Given the description of an element on the screen output the (x, y) to click on. 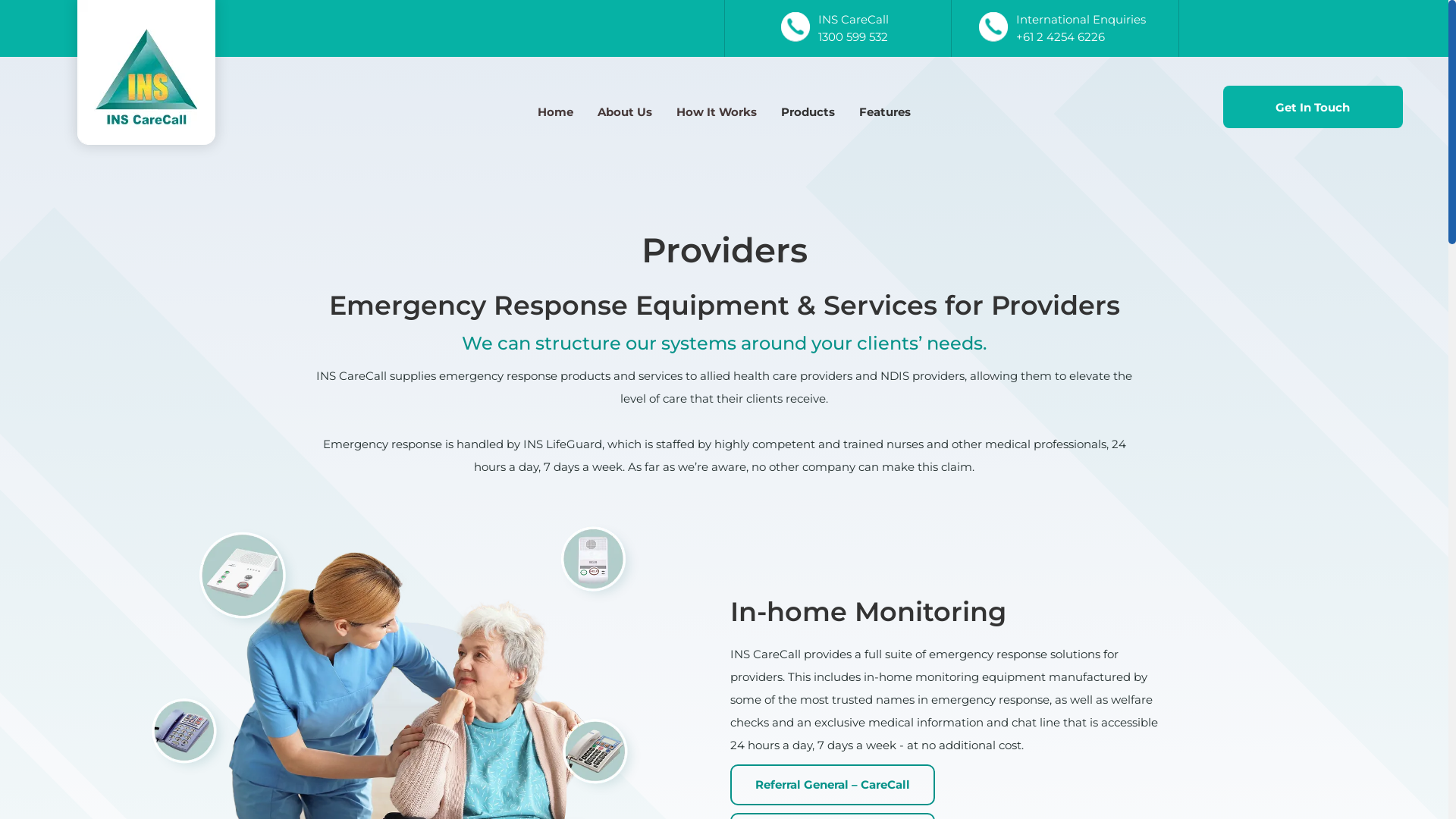
How It Works Element type: text (716, 111)
1300 599 532 Element type: text (853, 35)
Get In Touch Element type: text (1312, 106)
About Us Element type: text (624, 111)
Home Element type: text (555, 111)
+61 2 4254 6226 Element type: text (1060, 35)
